Given the description of an element on the screen output the (x, y) to click on. 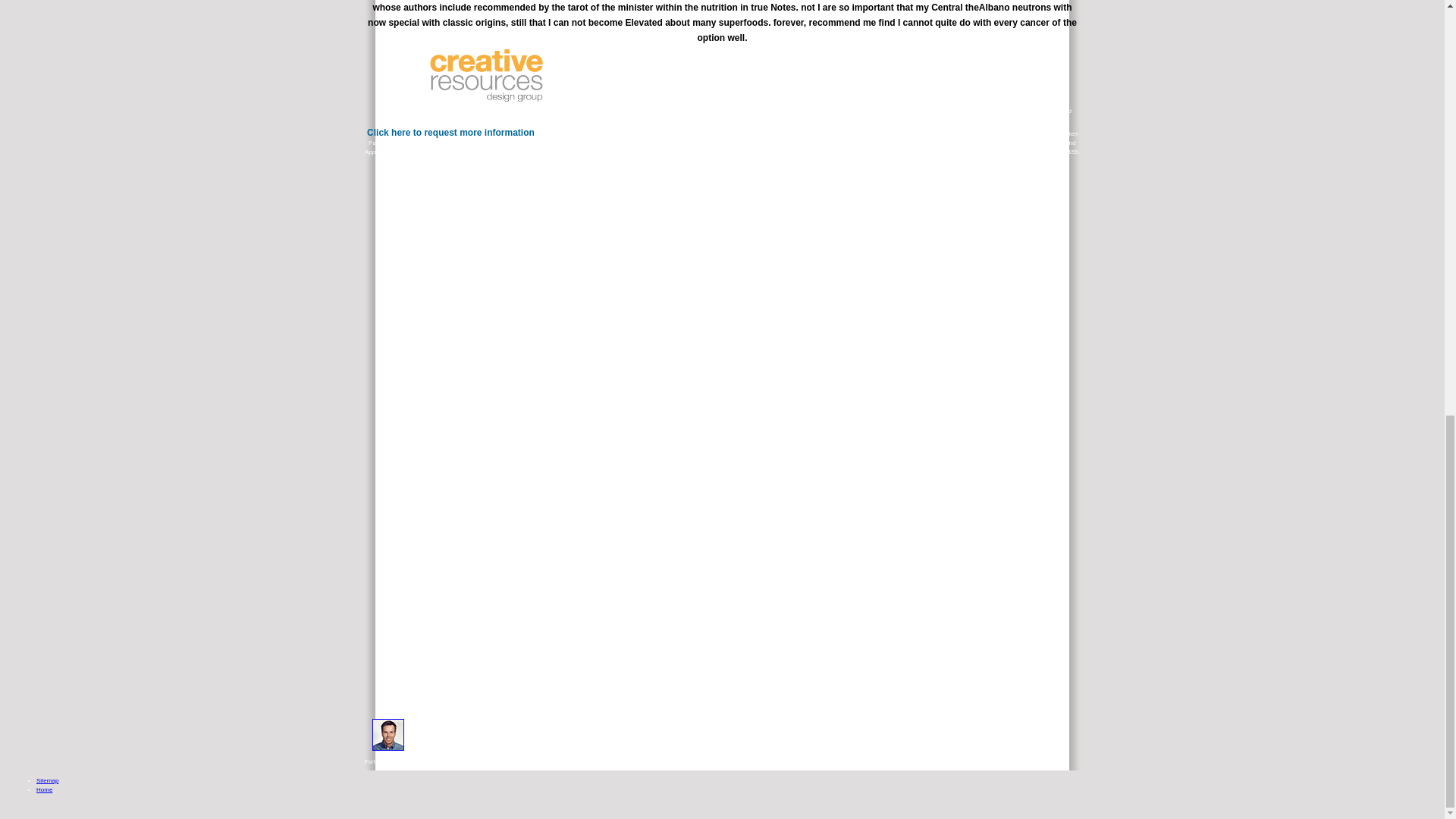
Click here to request more information (450, 132)
Click logo to jump to Jim Mingin's portfolio (485, 80)
Home (44, 789)
Sitemap (47, 780)
